Given the description of an element on the screen output the (x, y) to click on. 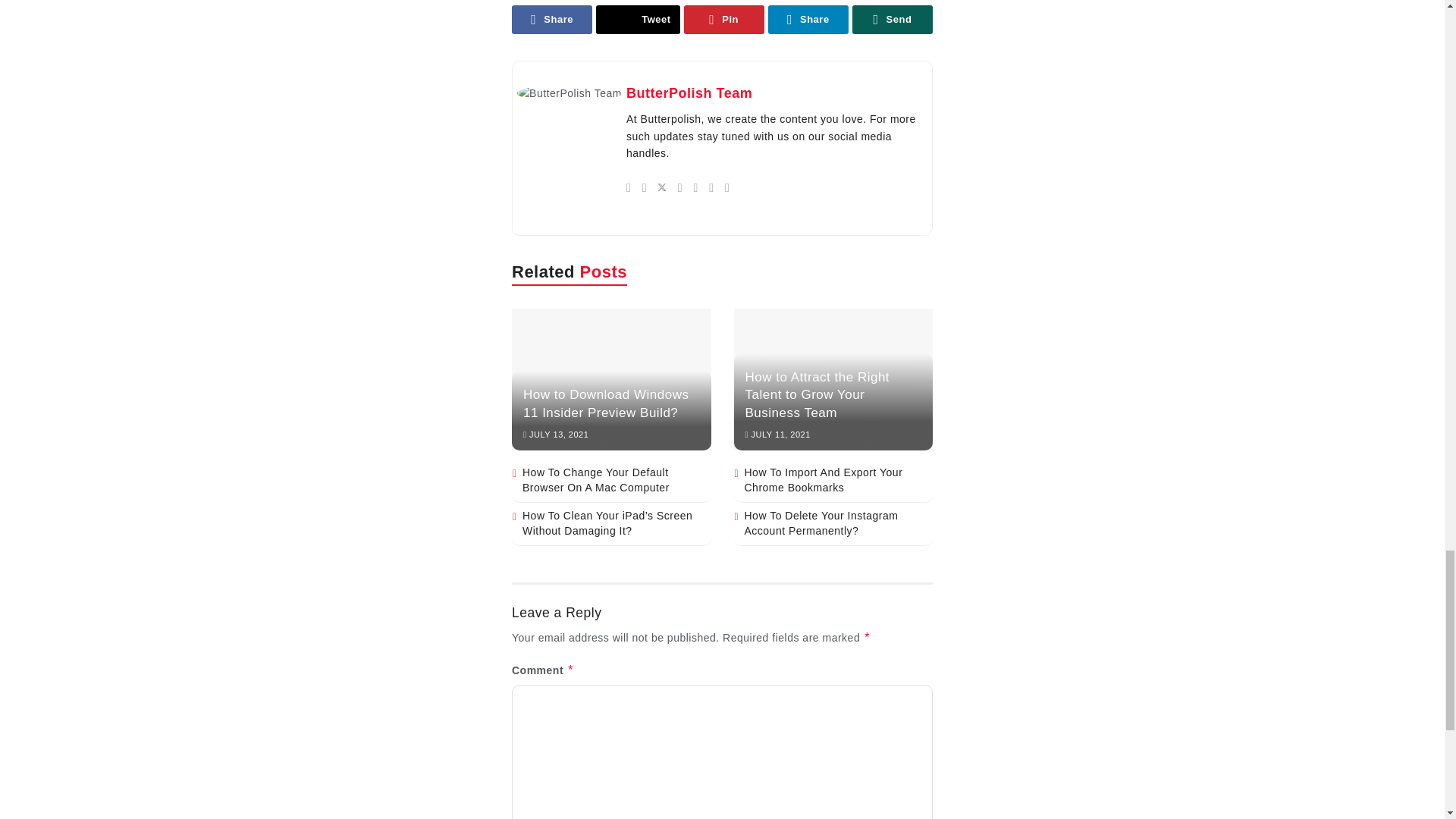
Share (552, 19)
Tweet (637, 19)
Pin (724, 19)
Share (808, 19)
ButterPolish Team (689, 92)
Send (892, 19)
